Given the description of an element on the screen output the (x, y) to click on. 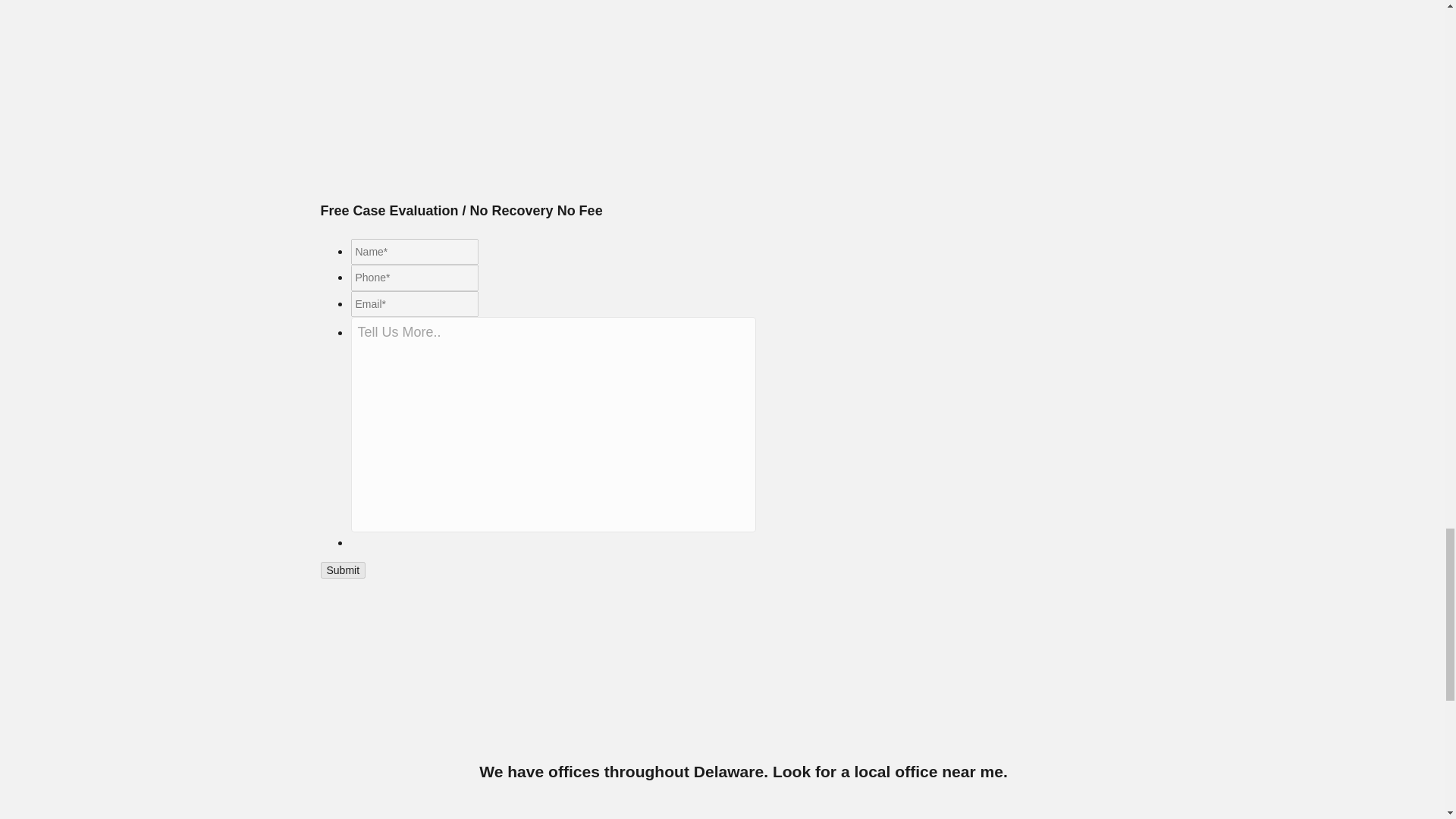
Submit (342, 569)
SMF-Legal-Logo-footer (743, 680)
